Given the description of an element on the screen output the (x, y) to click on. 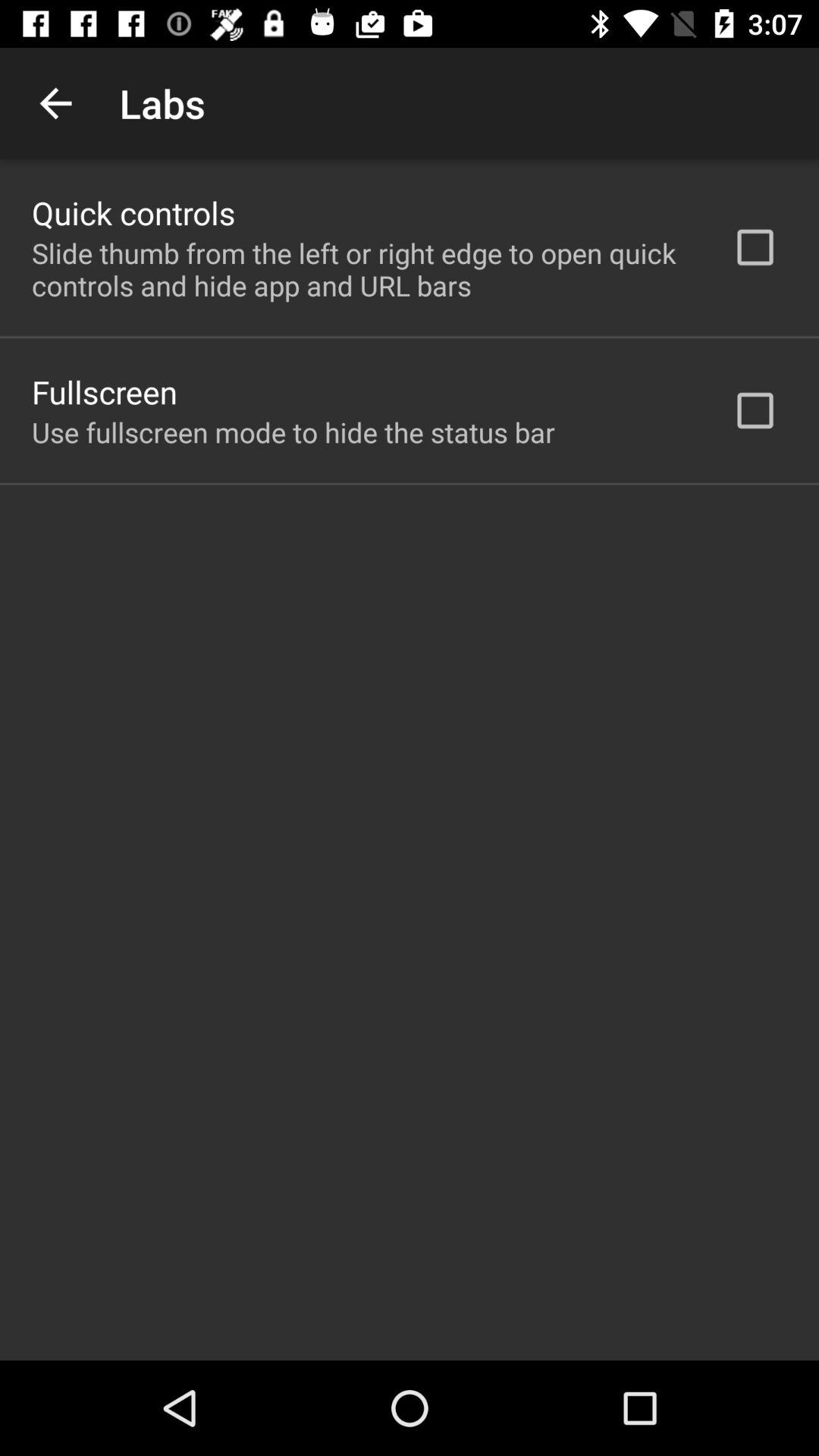
press icon to the left of the labs app (55, 103)
